Given the description of an element on the screen output the (x, y) to click on. 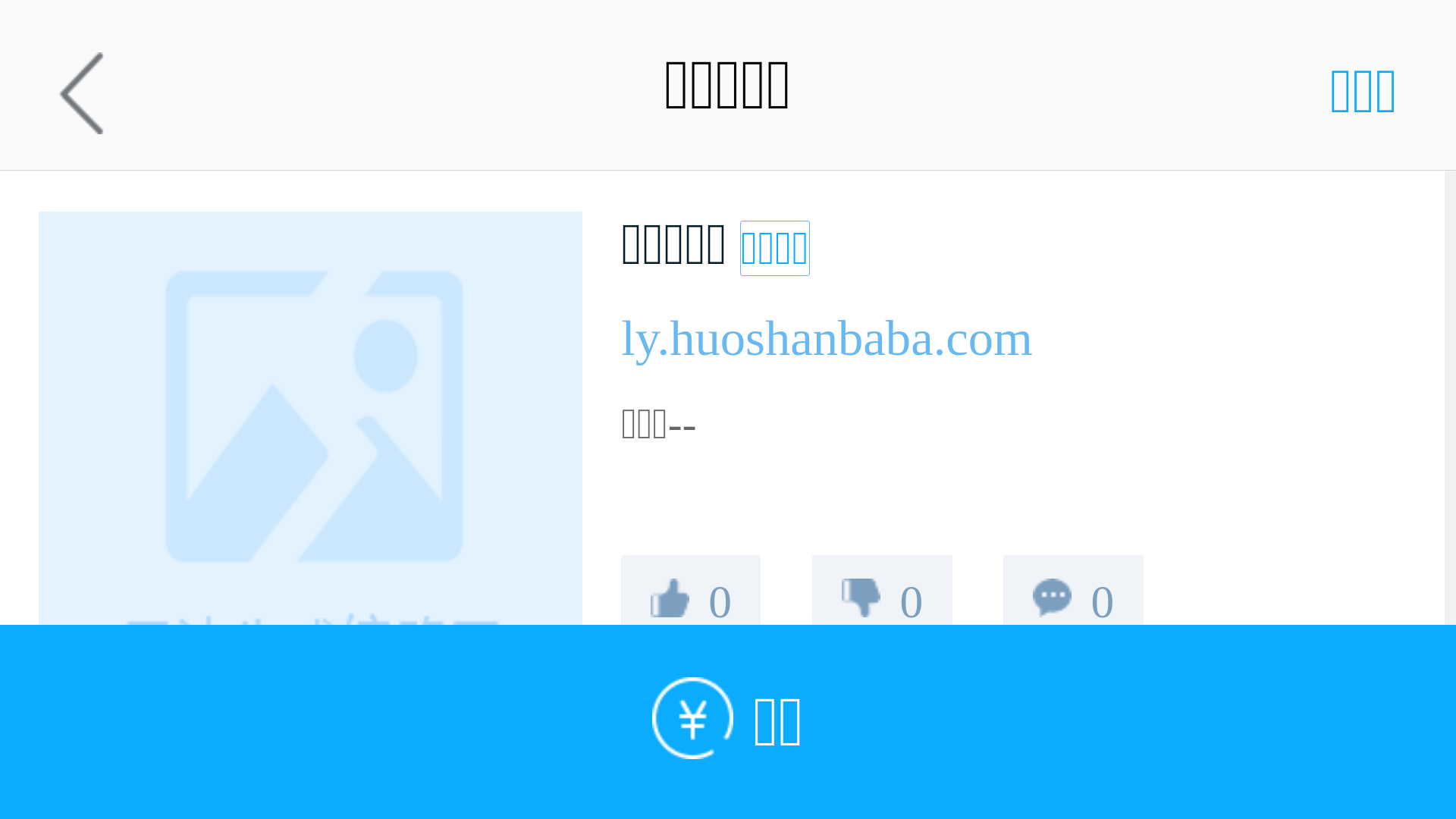
ly.huoshanbaba.com Element type: text (741, 338)
